Given the description of an element on the screen output the (x, y) to click on. 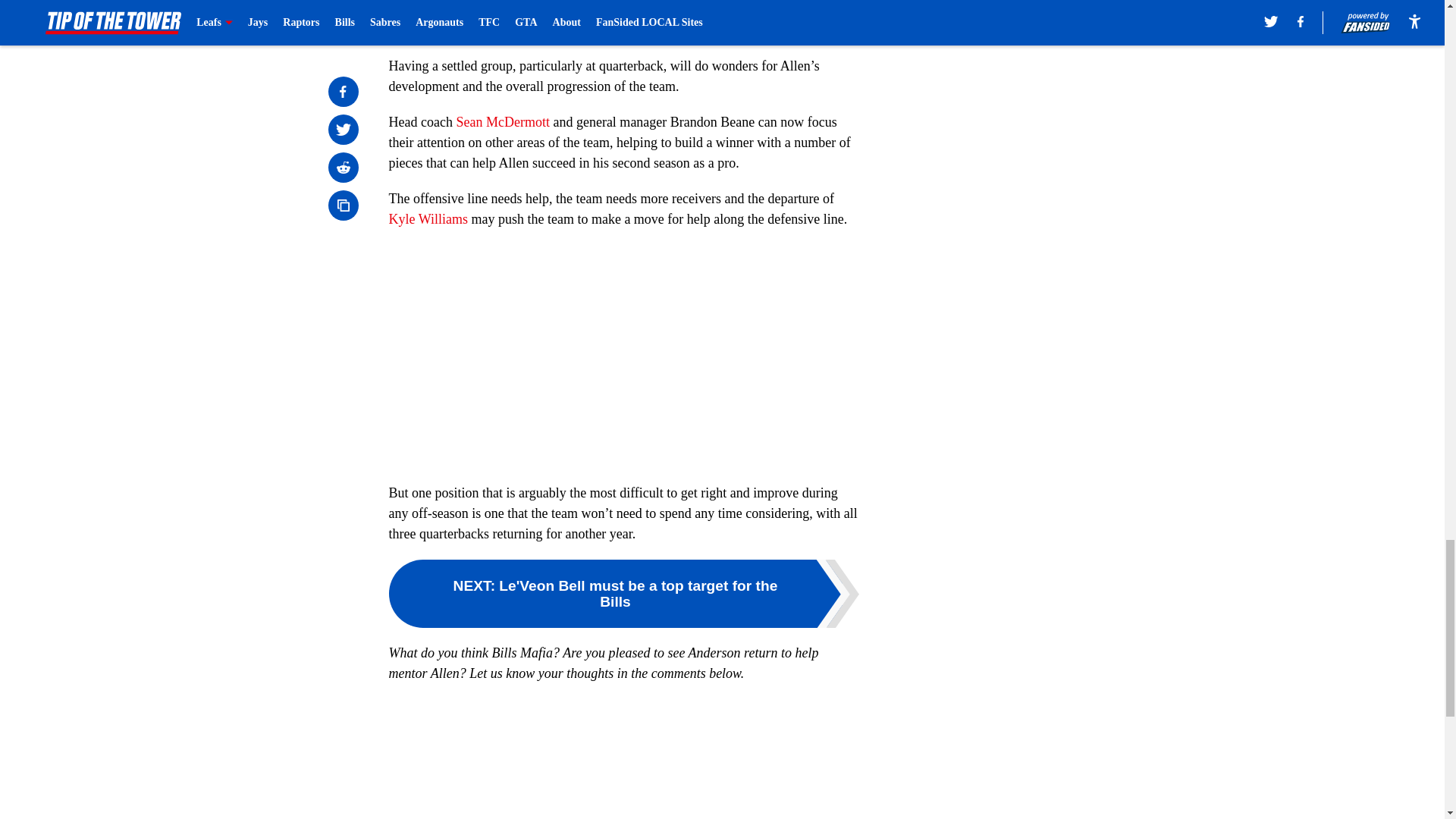
NEXT: Le'Veon Bell must be a top target for the Bills (623, 593)
Sean McDermott (501, 121)
Kyle Williams (427, 218)
